Given the description of an element on the screen output the (x, y) to click on. 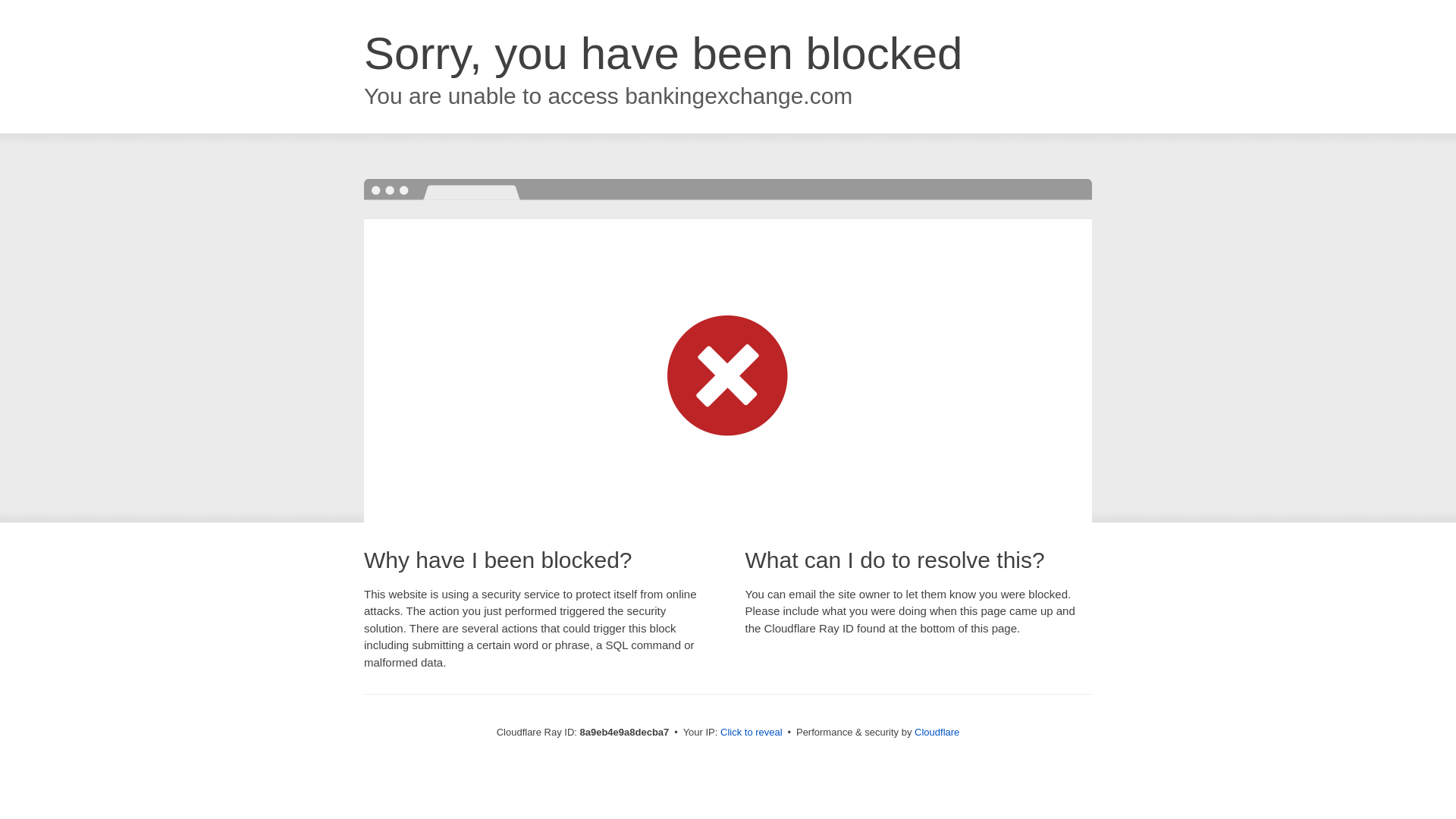
Click to reveal (751, 732)
Cloudflare (936, 731)
